Given the description of an element on the screen output the (x, y) to click on. 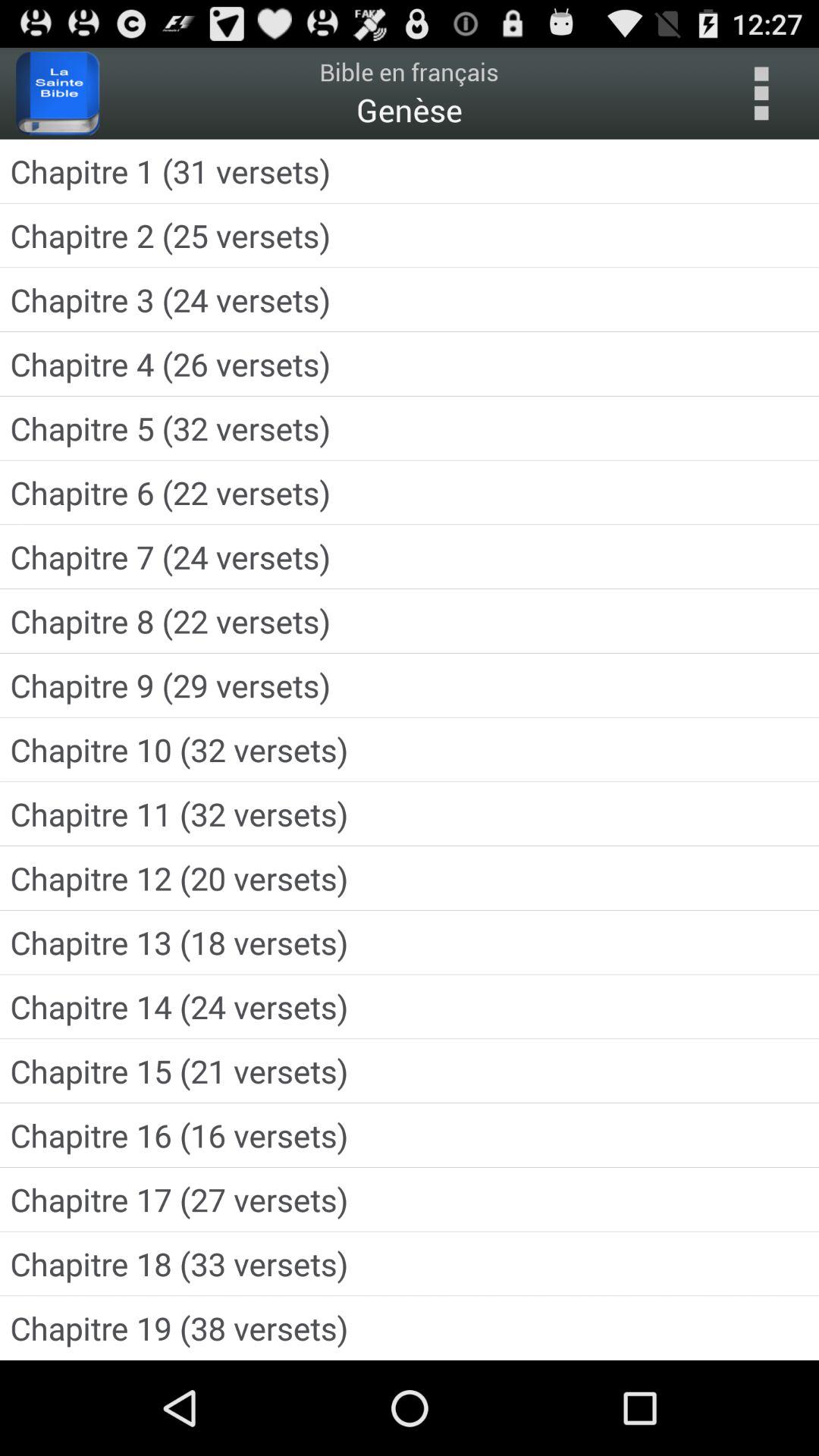
turn off the chapitre 9 29 app (409, 684)
